Given the description of an element on the screen output the (x, y) to click on. 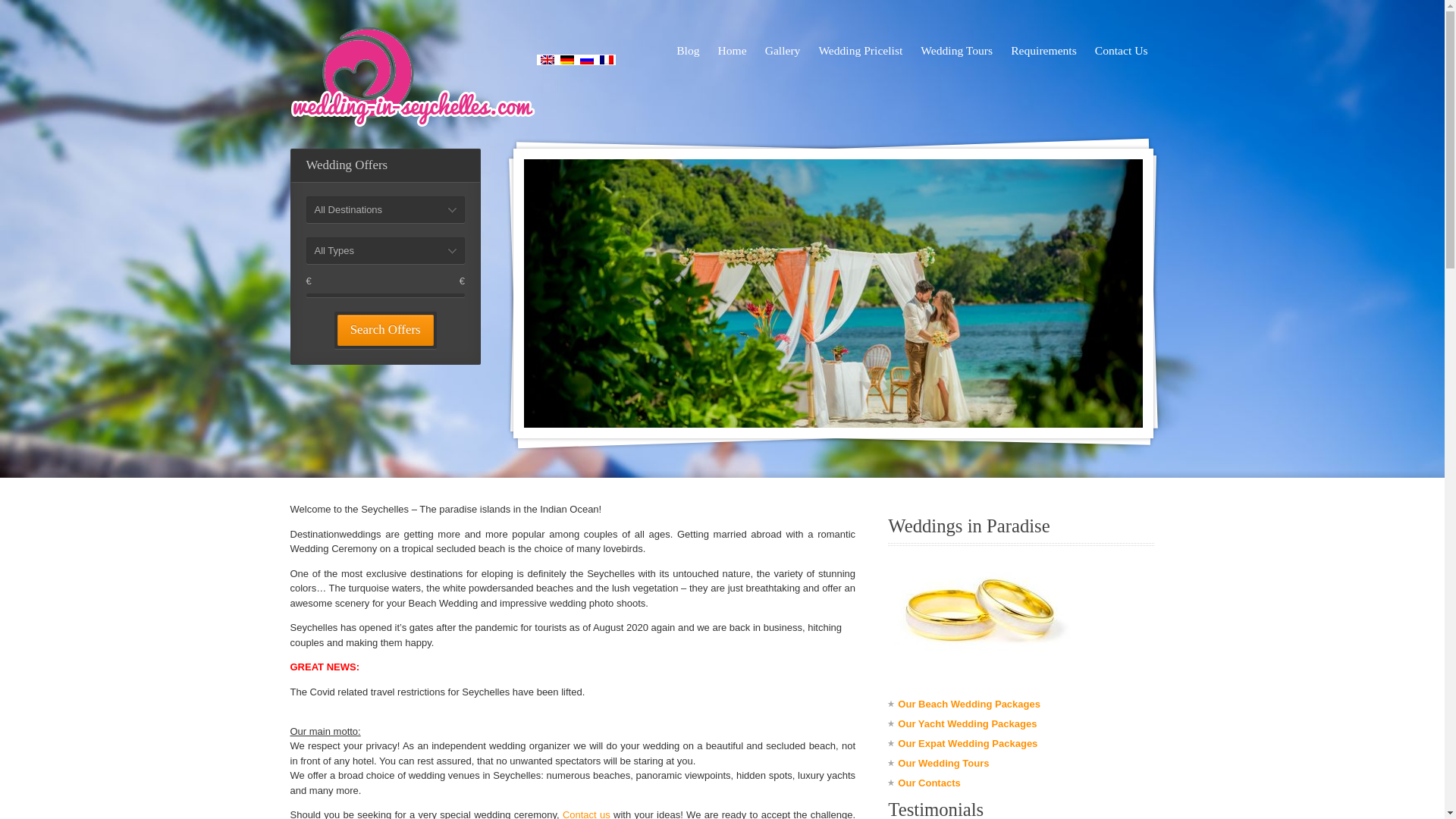
Home (732, 50)
Contact us (586, 814)
Gallery (783, 50)
Our Wedding Tours (943, 763)
Our Beach Wedding Packages (969, 704)
Blog (687, 50)
Wedding Tours (956, 50)
Contact Us (586, 814)
